Given the description of an element on the screen output the (x, y) to click on. 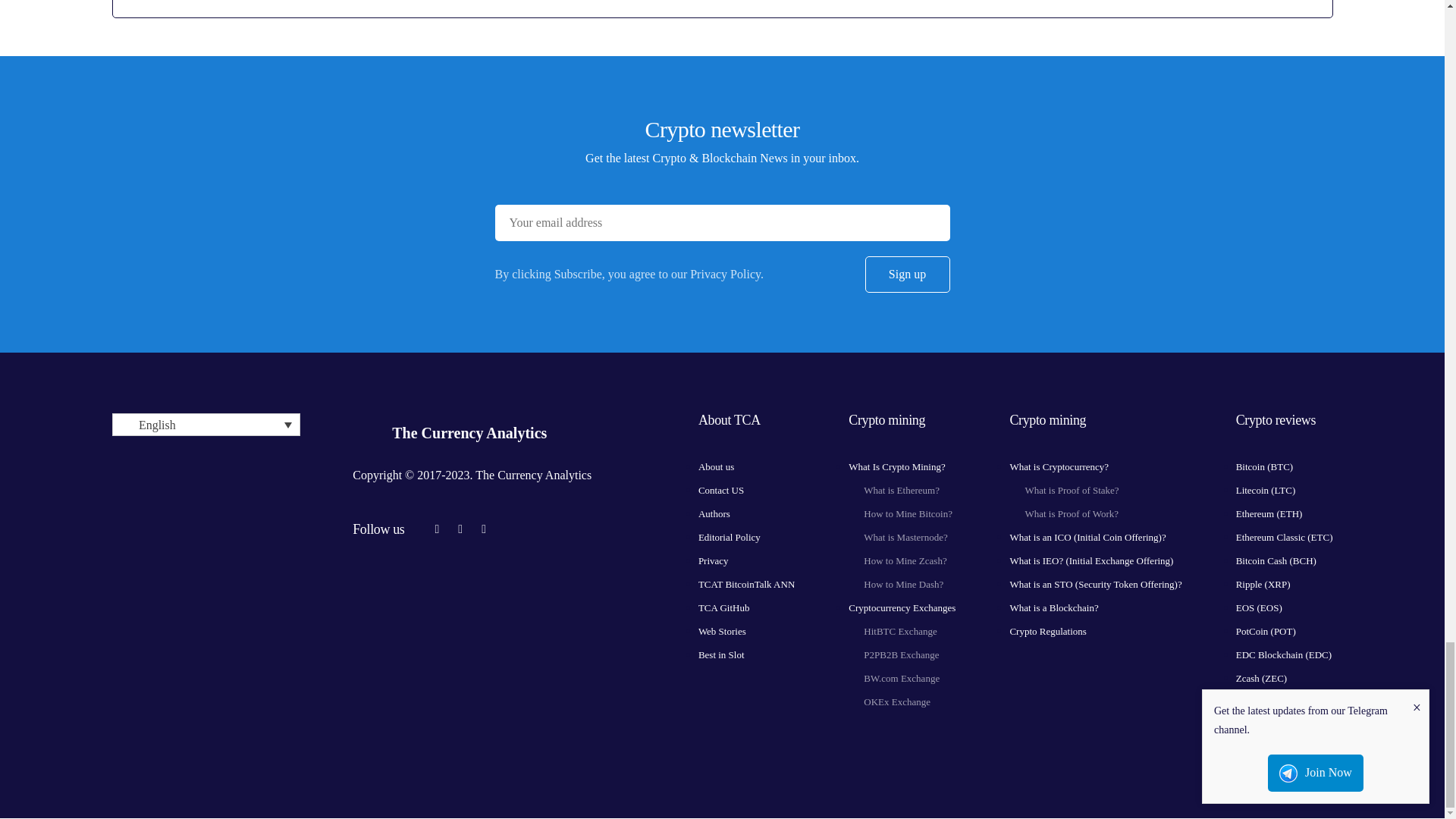
Sign up (906, 274)
